Given the description of an element on the screen output the (x, y) to click on. 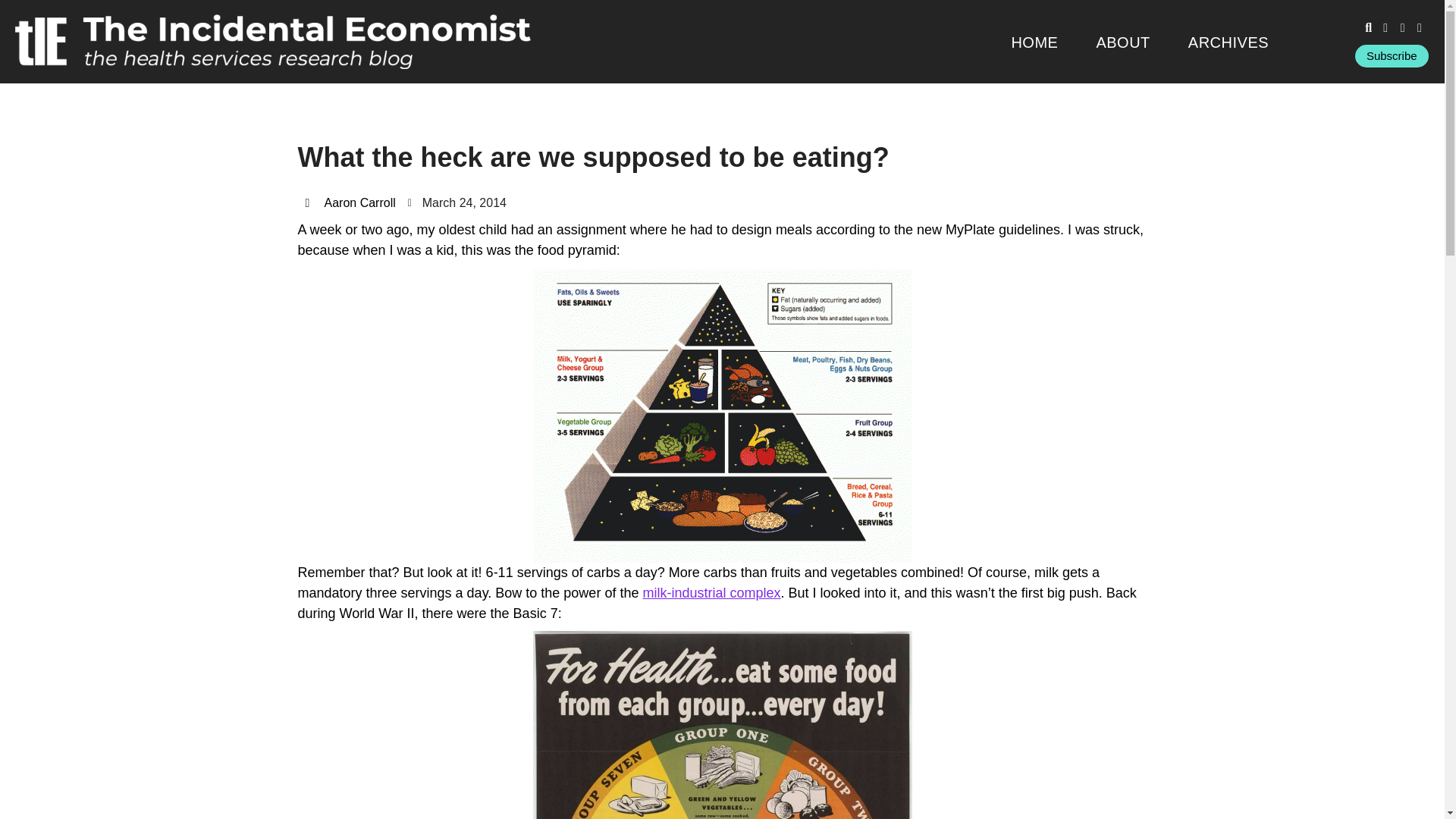
March 24, 2014 (456, 203)
HOME (1034, 41)
ABOUT (1122, 41)
Aaron Carroll (349, 203)
ARCHIVES (1228, 41)
Subscribe (1391, 56)
milk-industrial complex (711, 592)
